Given the description of an element on the screen output the (x, y) to click on. 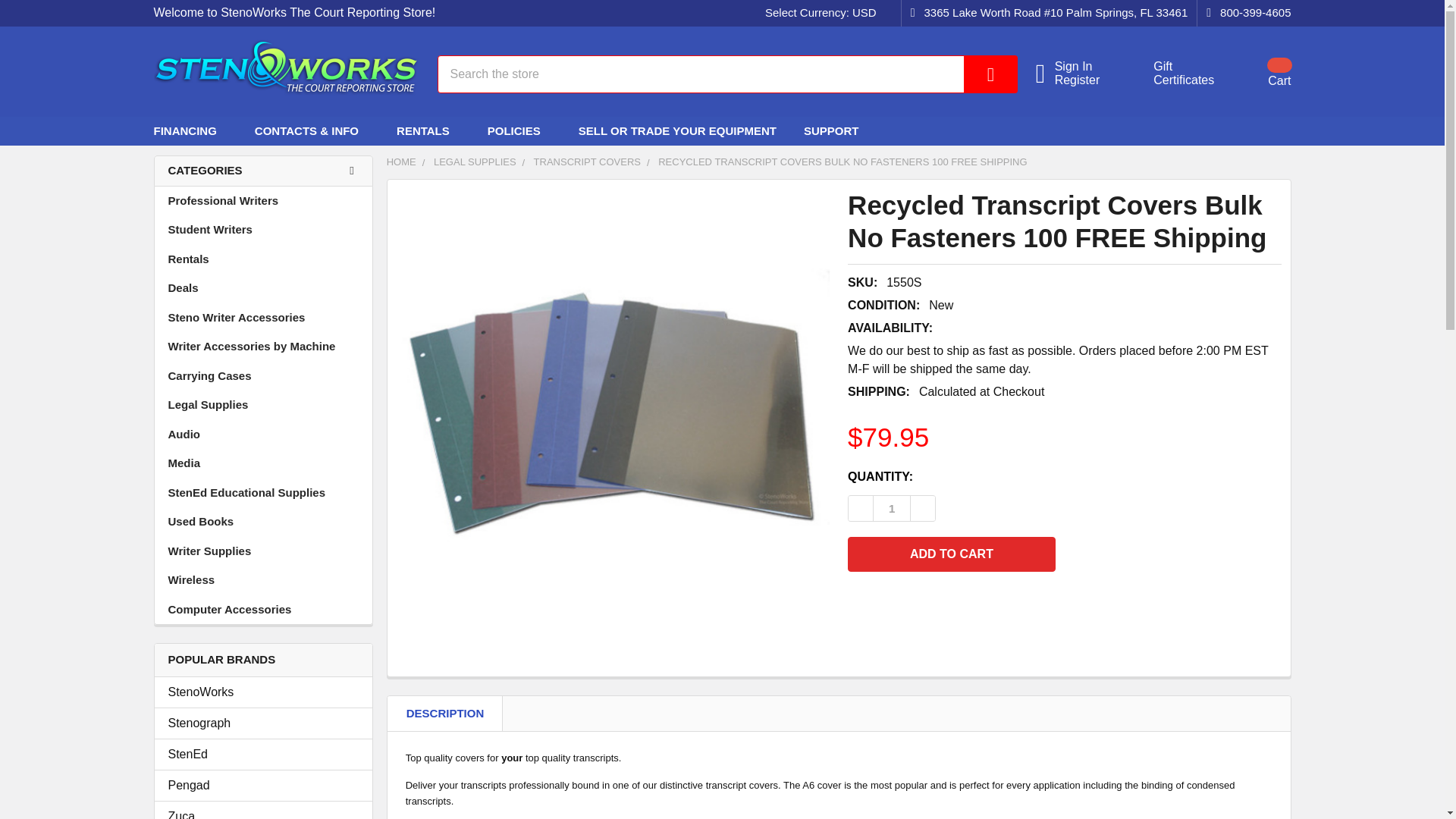
Add to Cart (951, 554)
X (1222, 130)
StenoWorks (263, 692)
Cart (1260, 72)
Pengad (263, 785)
800-399-4605 (1243, 13)
Facebook (823, 13)
Zuca (1194, 130)
Pinterest (1174, 73)
StenEd (263, 813)
1 (1249, 130)
StenoWorks The Court Reporting Store (263, 754)
Search (891, 508)
